Given the description of an element on the screen output the (x, y) to click on. 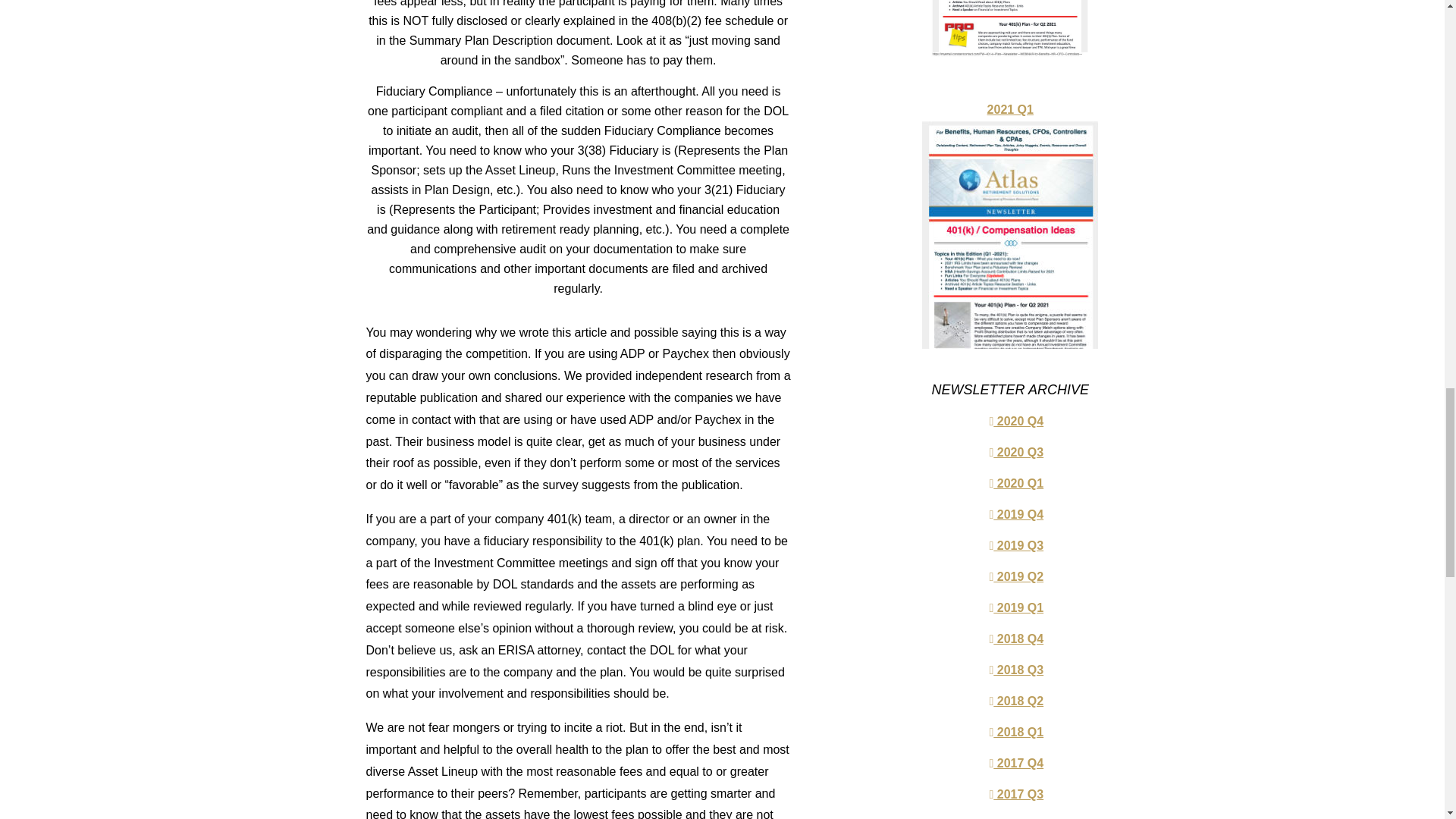
2021 Q1 (1009, 234)
2021 Q2 (1009, 41)
